Given the description of an element on the screen output the (x, y) to click on. 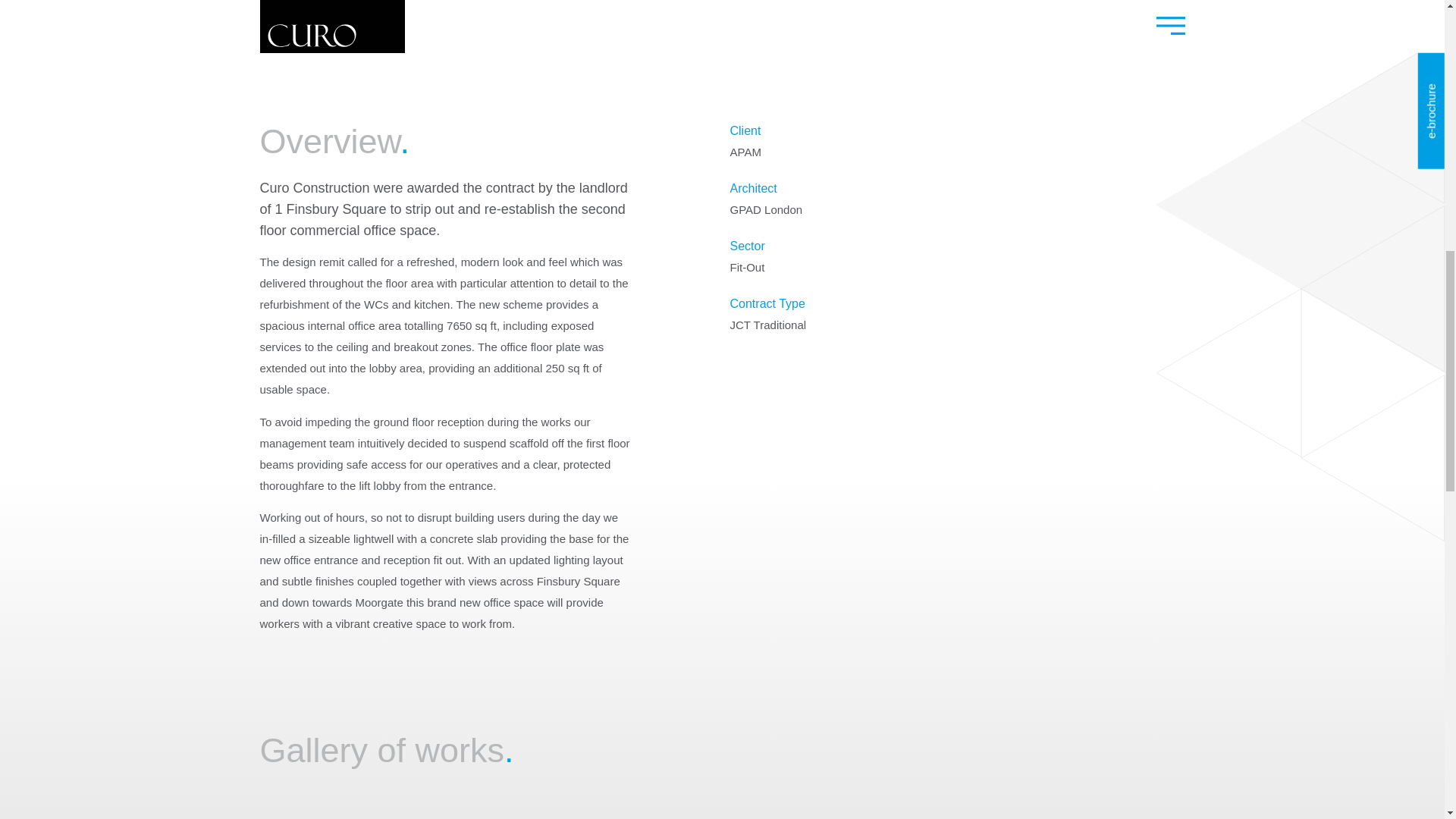
Projects (318, 19)
Home (272, 19)
